Given the description of an element on the screen output the (x, y) to click on. 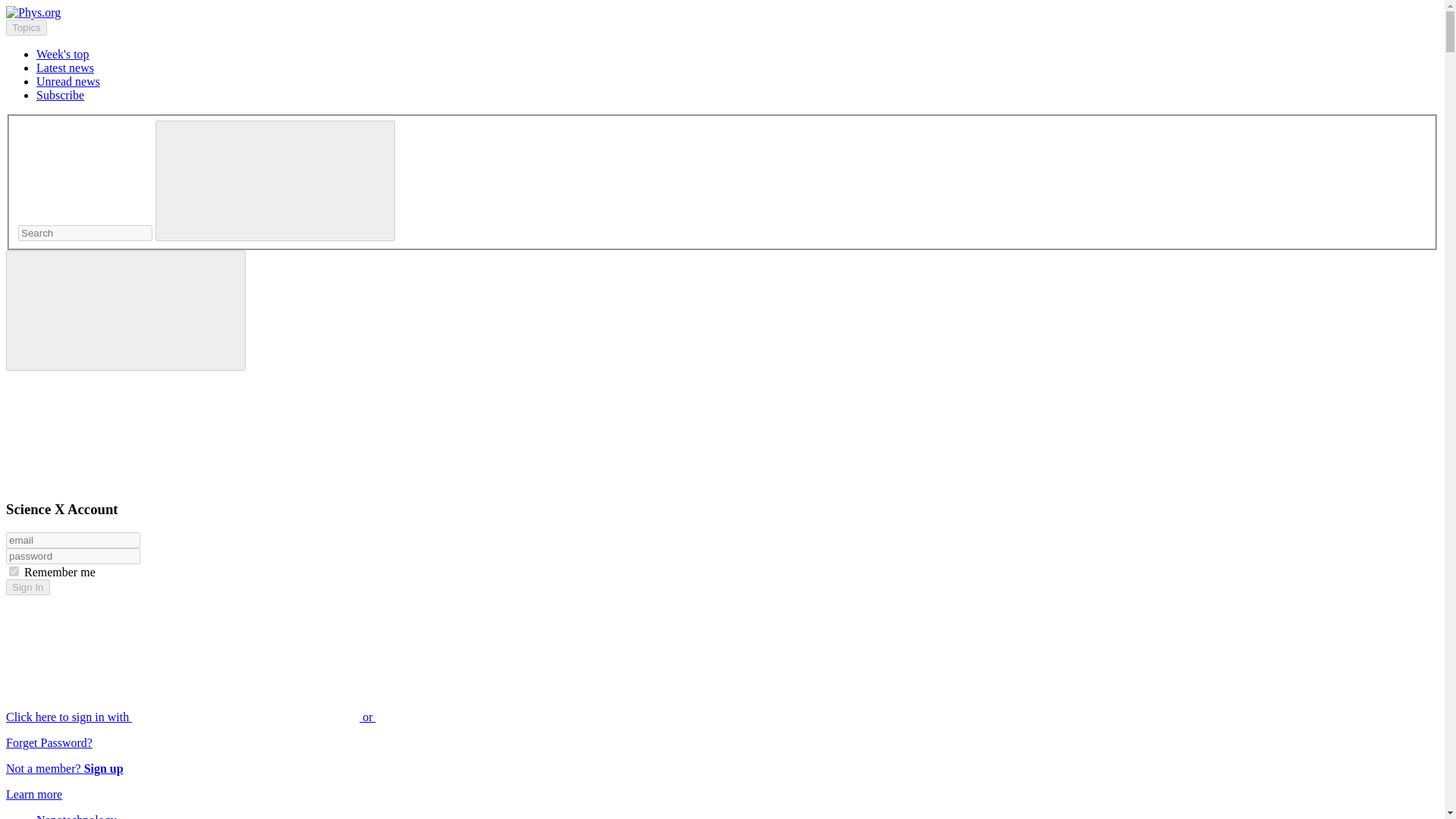
Unread news (68, 81)
Forget Password? (49, 742)
Sign In (27, 587)
Nanotechnology (76, 816)
Latest news (65, 67)
Week's top (62, 53)
on (13, 571)
Topics (25, 27)
Click here to sign in with or (304, 716)
Not a member? Sign up (64, 768)
Subscribe (60, 94)
Learn more (33, 793)
